Given the description of an element on the screen output the (x, y) to click on. 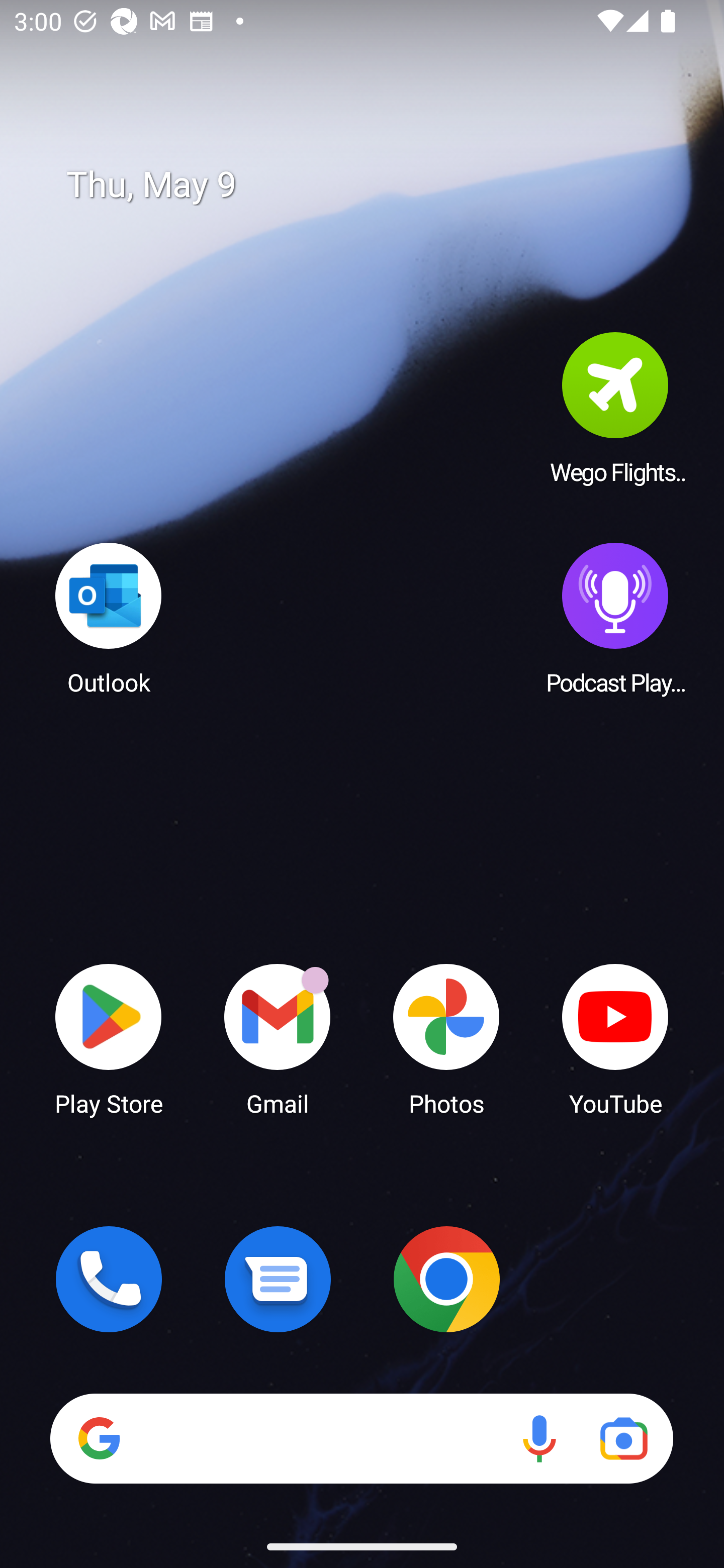
Thu, May 9 (375, 184)
Wego Flights & Hotels (615, 407)
Outlook (108, 617)
Podcast Player (615, 617)
Play Store (108, 1038)
Gmail Gmail has 18 notifications (277, 1038)
Photos (445, 1038)
YouTube (615, 1038)
Phone (108, 1279)
Messages (277, 1279)
Chrome (446, 1279)
Search Voice search Google Lens (361, 1438)
Voice search (539, 1438)
Google Lens (623, 1438)
